Given the description of an element on the screen output the (x, y) to click on. 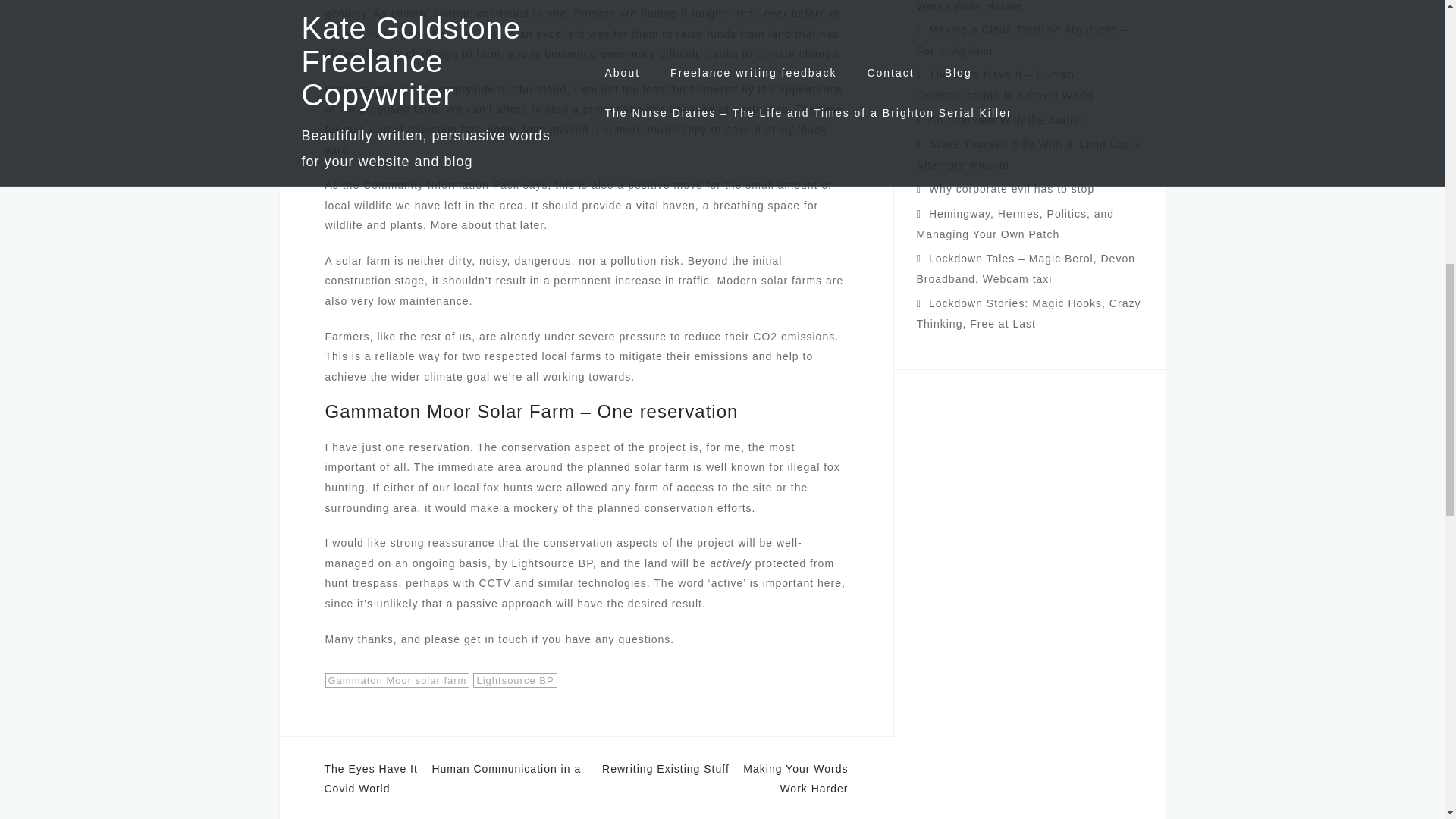
Lockdown Stories: Magic Hooks, Crazy Thinking, Free at Last (1027, 313)
Hemingway, Hermes, Politics, and Managing Your Own Patch (1014, 224)
An Interview With the Author (1006, 119)
Why corporate evil has to stop (1011, 188)
Lightsource BP (514, 680)
Gammaton Moor solar farm (396, 680)
